Given the description of an element on the screen output the (x, y) to click on. 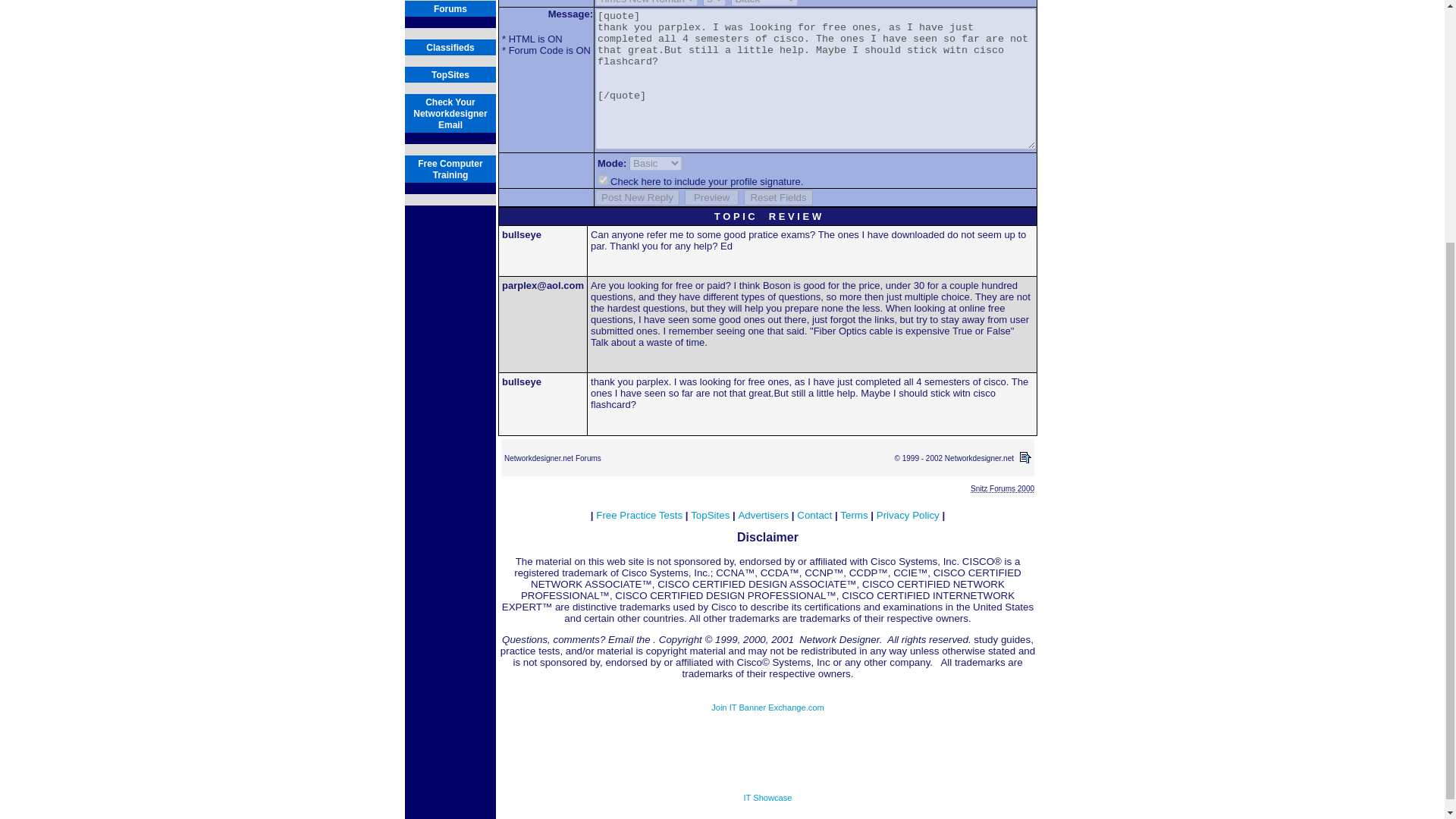
TopSites (449, 169)
 Preview  (709, 514)
Classifieds (711, 197)
Forums (450, 47)
Contact (450, 8)
Post New Reply (813, 514)
Post New Reply (449, 113)
Reset Fields (637, 197)
Join IT Banner Exchange.com (637, 197)
IT Showcase (778, 197)
Powered By: Snitz Forums 2000 Version 3.3.05 (767, 706)
yes (767, 797)
TopSites (1002, 488)
